Given the description of an element on the screen output the (x, y) to click on. 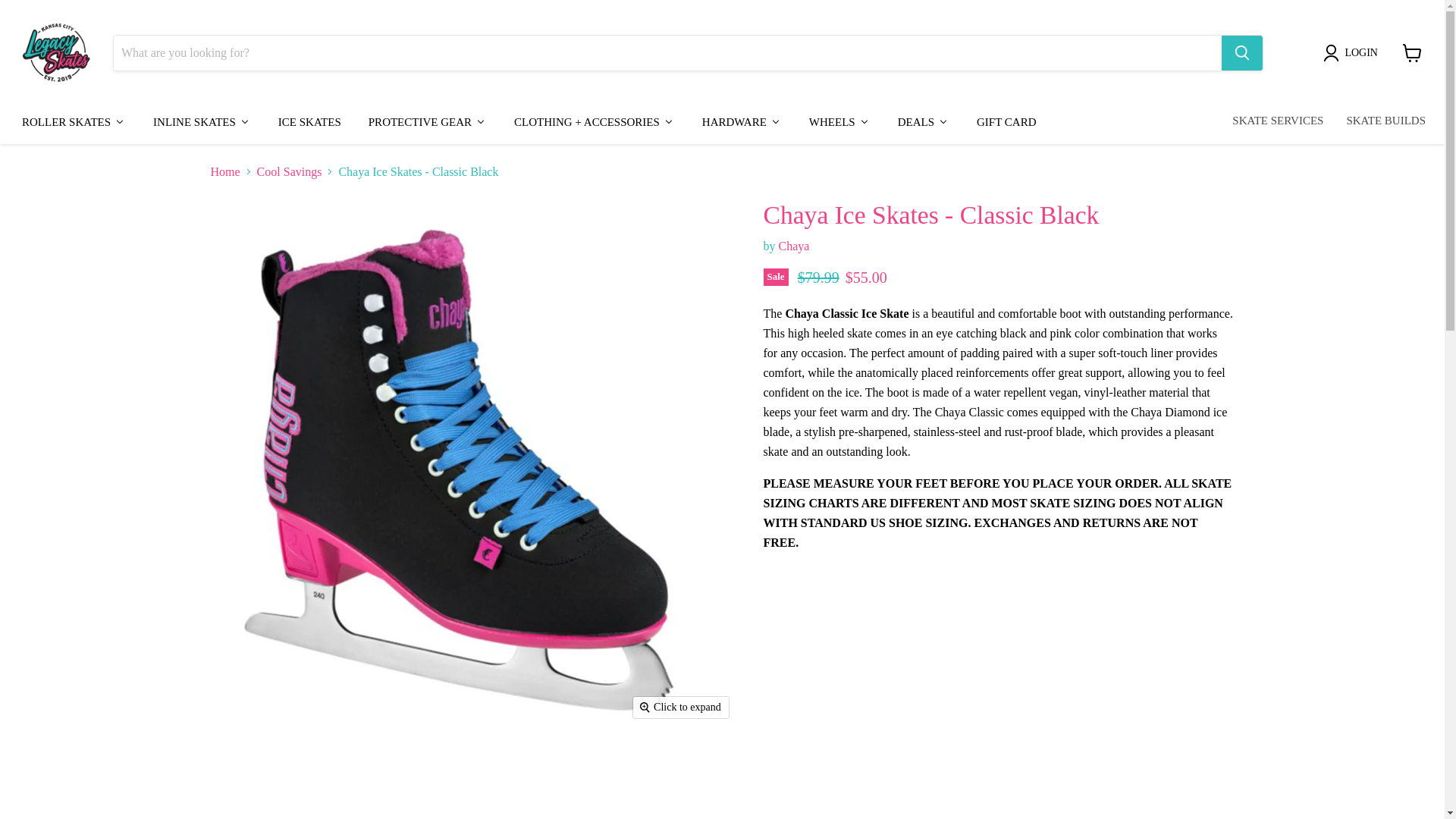
Chaya (793, 245)
ICE SKATES (308, 121)
View cart (1411, 52)
INLINE SKATES (200, 121)
HARDWARE (740, 121)
PROTECTIVE GEAR (426, 121)
LOGIN (1353, 53)
YouTube video player (997, 692)
ROLLER SKATES (72, 121)
